Given the description of an element on the screen output the (x, y) to click on. 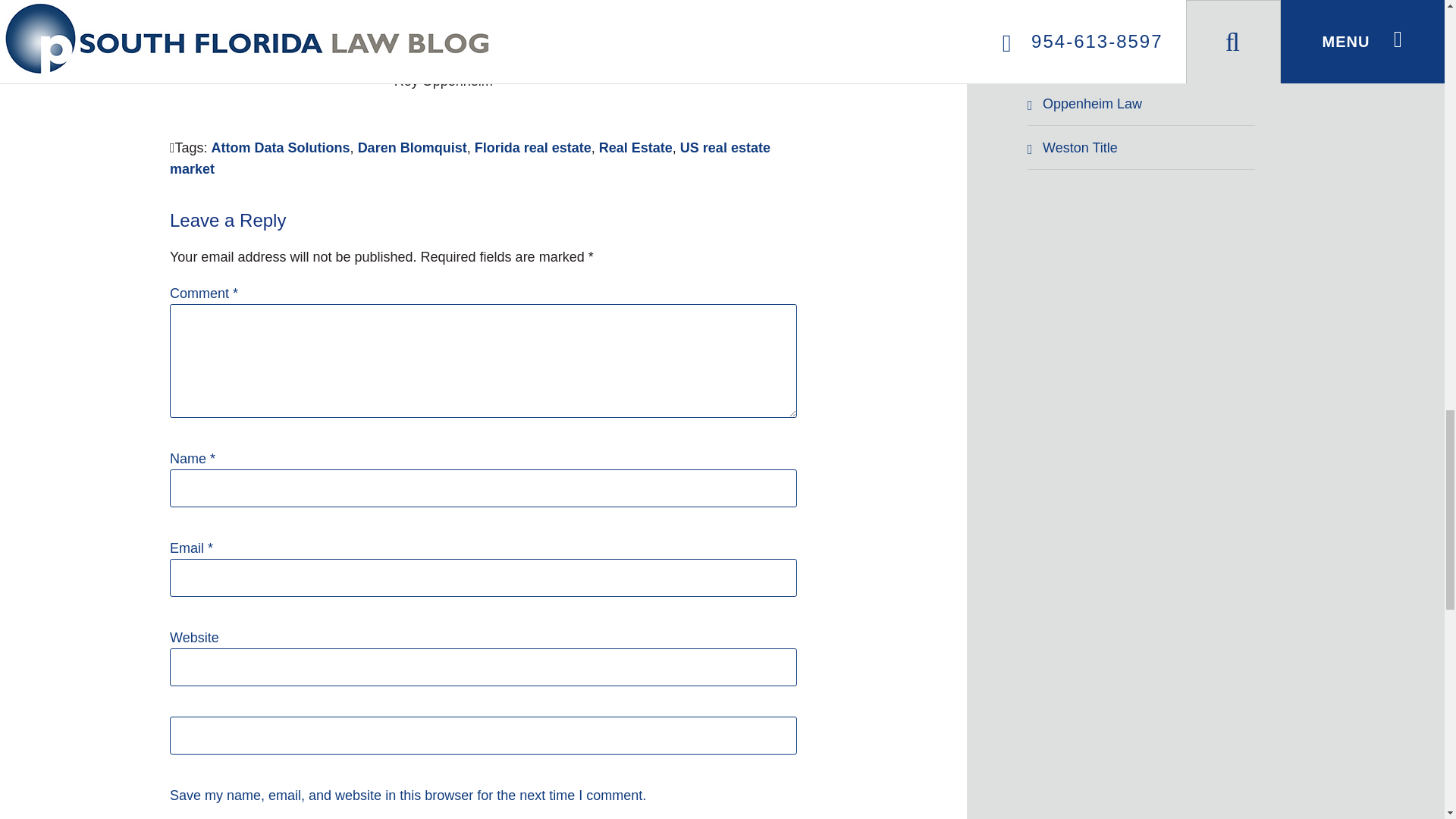
Daren Blomquist (412, 147)
Weston Title (1145, 147)
US real estate market (470, 158)
Florida real estate (532, 147)
yes (483, 735)
Oppenheim Law (1145, 103)
Real Estate (635, 147)
Attom Data Solutions (280, 147)
